Given the description of an element on the screen output the (x, y) to click on. 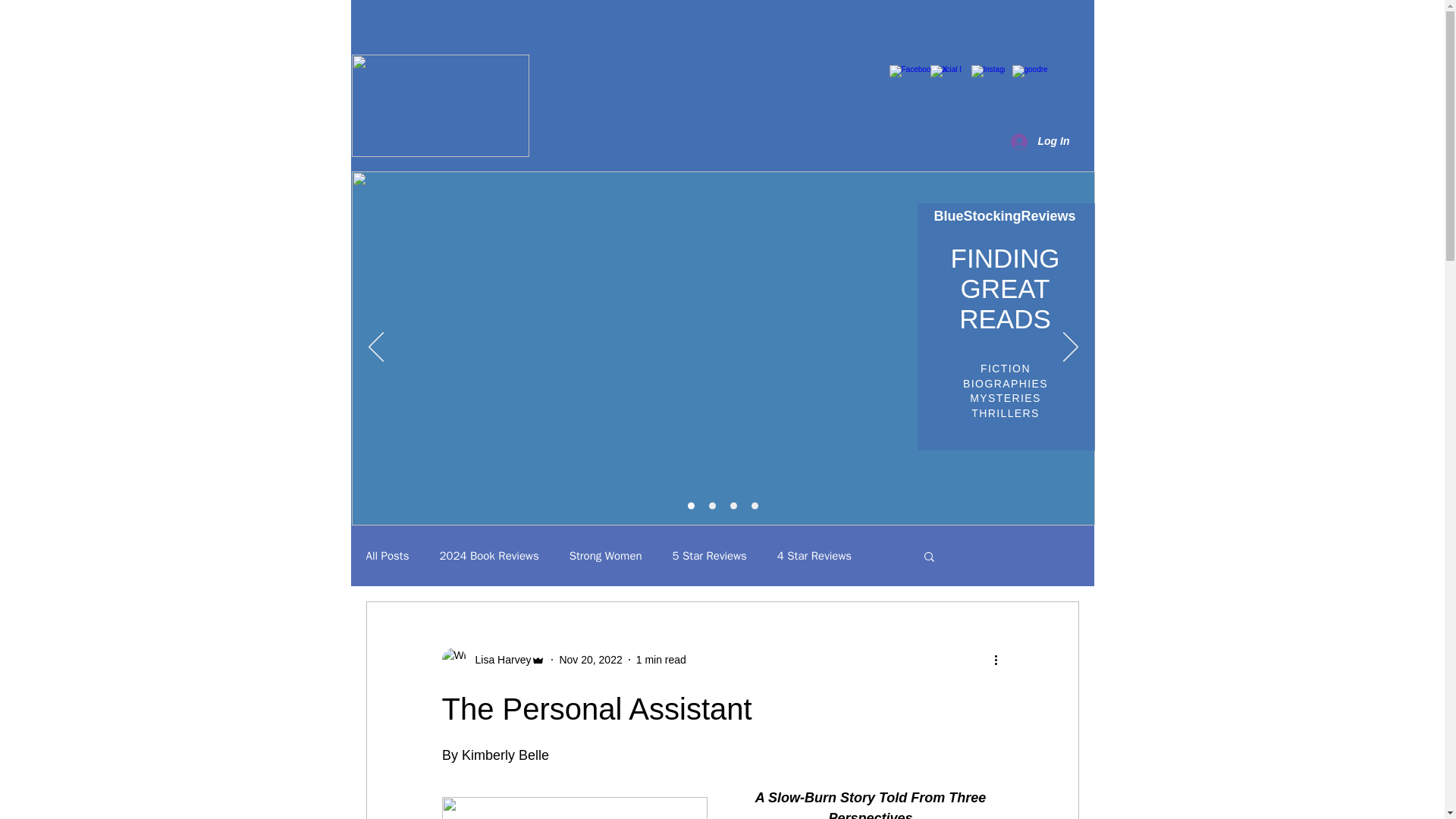
1 min read (660, 659)
Nov 20, 2022 (590, 659)
4 Star Reviews (814, 555)
Strong Women (605, 555)
5 Star Reviews (709, 555)
Log In (1039, 141)
All Posts (387, 555)
Lisa Harvey (498, 659)
2024 Book Reviews (488, 555)
